Given the description of an element on the screen output the (x, y) to click on. 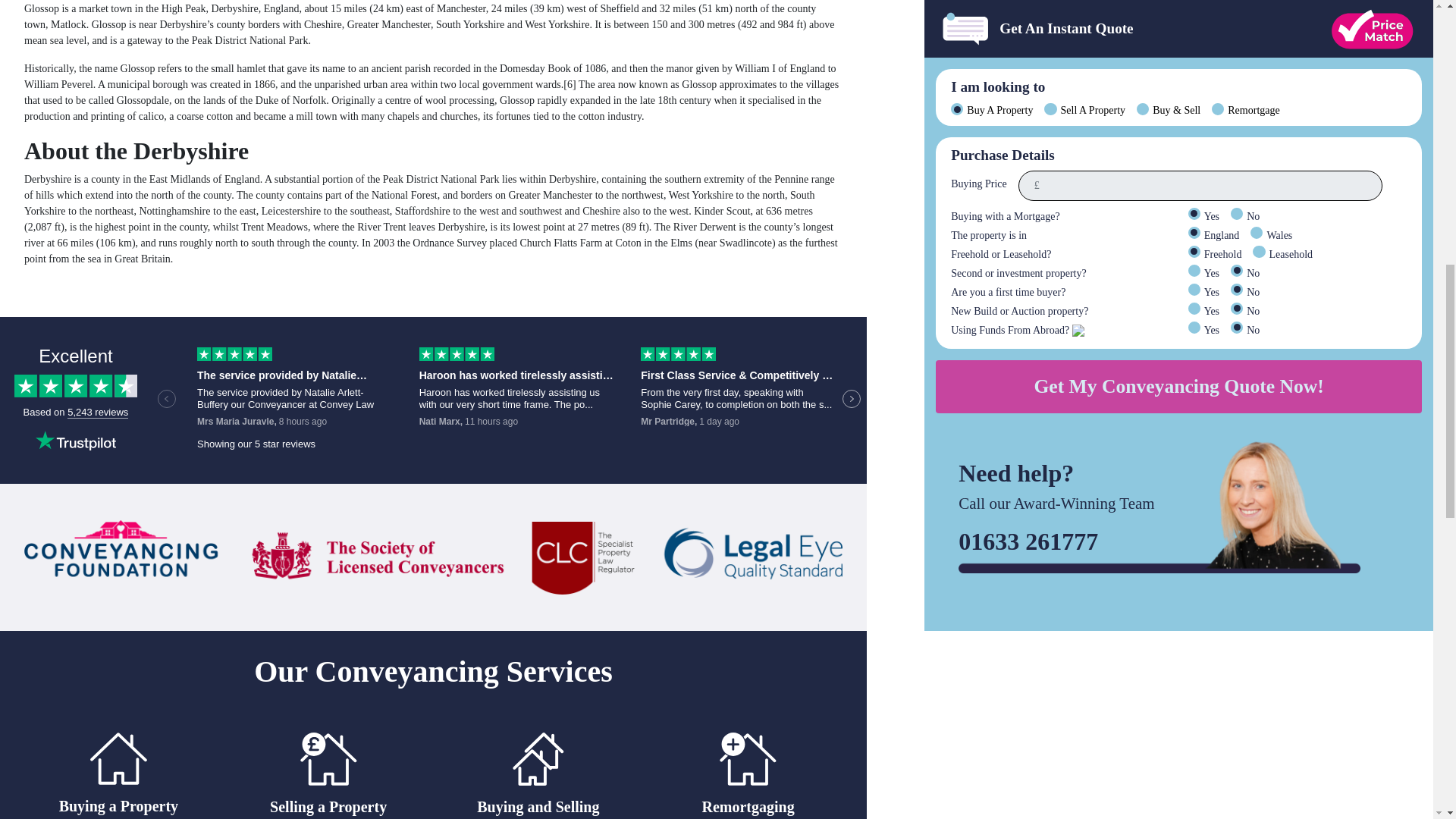
Customer reviews powered by Trustpilot (433, 400)
